Given the description of an element on the screen output the (x, y) to click on. 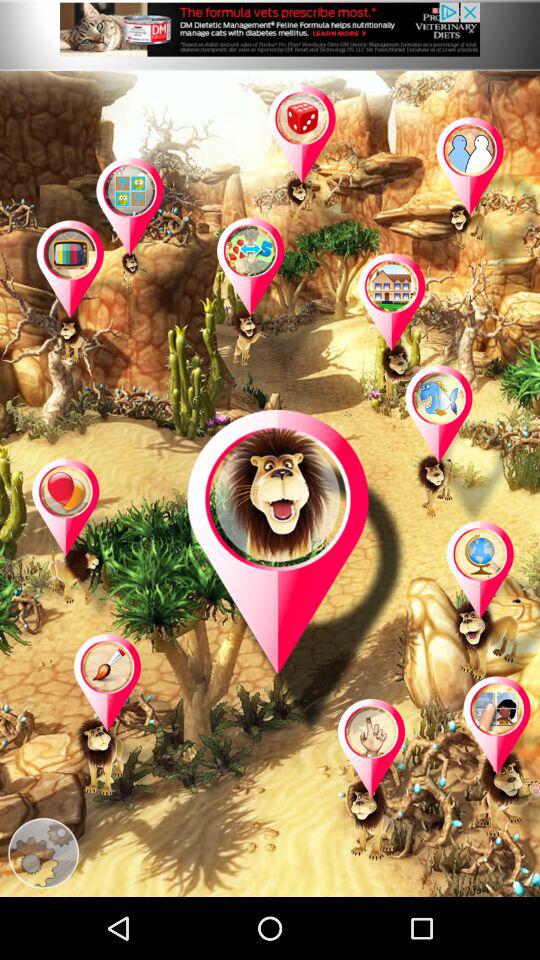
open page (297, 573)
